Given the description of an element on the screen output the (x, y) to click on. 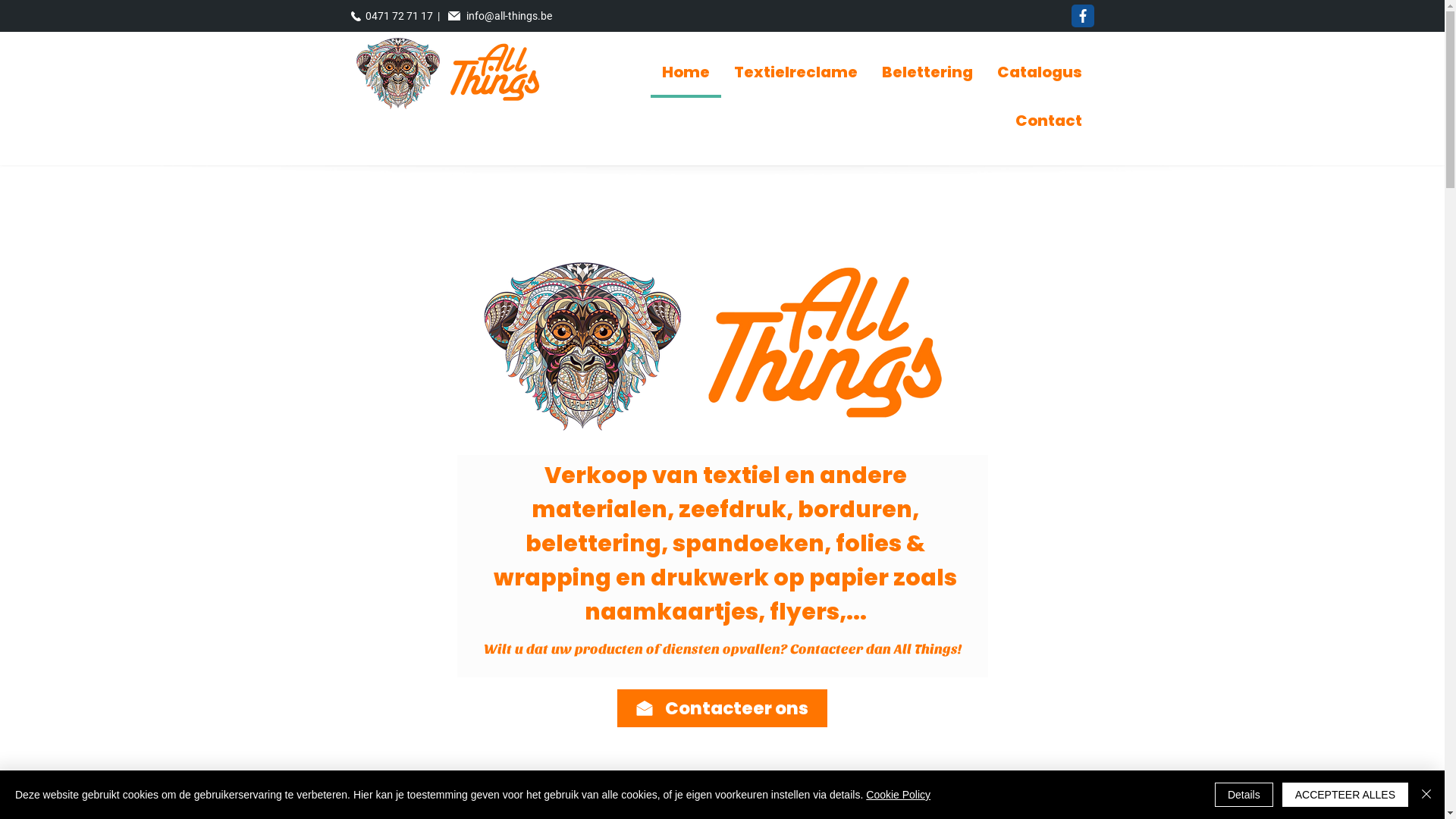
Contacteer ons Element type: text (722, 708)
Textielreclame Element type: text (794, 73)
0471 72 71 17  Element type: text (400, 15)
Aap Element type: hover (397, 72)
Catalogus Element type: text (1039, 73)
Belettering Element type: text (927, 73)
Home Element type: text (685, 73)
ACCEPTEER ALLES Element type: text (1345, 794)
info@all-things.be Element type: text (508, 15)
Cookie Policy Element type: text (898, 794)
Contact Element type: text (1048, 121)
Details Element type: text (1243, 794)
